Given the description of an element on the screen output the (x, y) to click on. 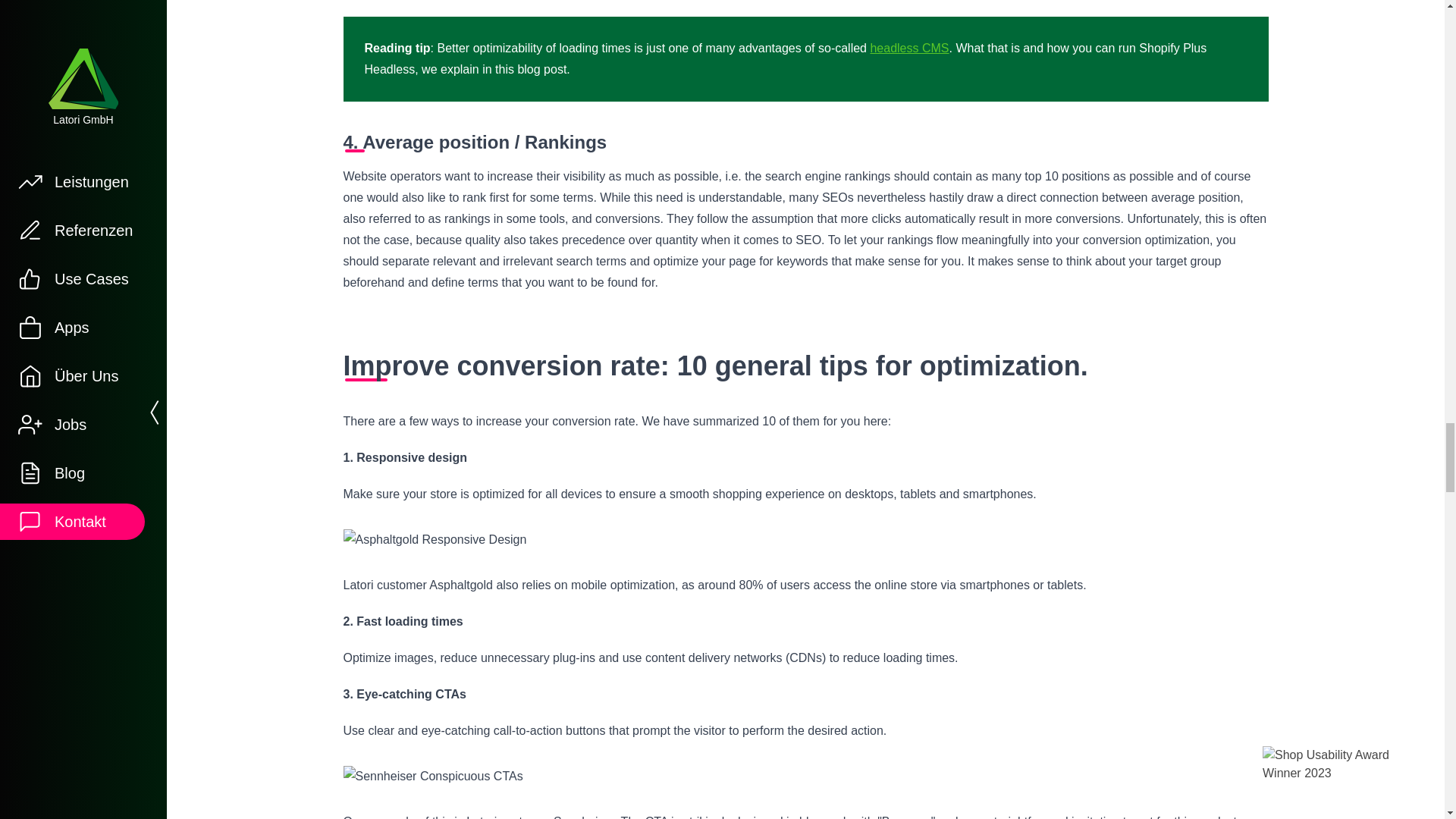
Improve conversion rate: 10 general tips for optimization. (805, 366)
headless CMS (909, 47)
